Given the description of an element on the screen output the (x, y) to click on. 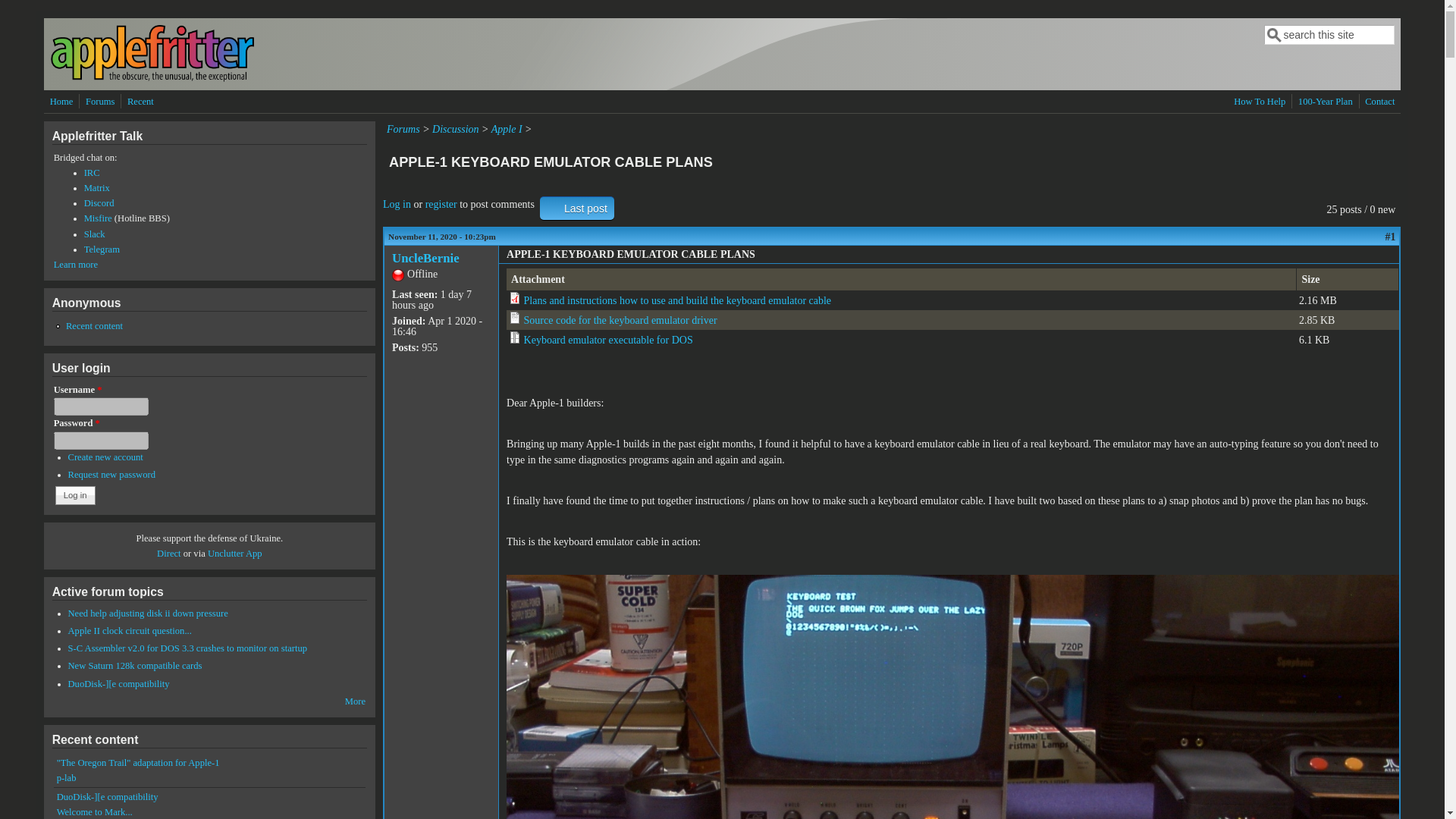
A1KB.txt (620, 319)
Home (61, 101)
A1KB.zip (608, 339)
A1KeybEmu.pdf (677, 300)
Recent (140, 101)
Log in (396, 204)
Apple I (507, 129)
Discussion (455, 129)
How To Help (1259, 101)
Source code for the keyboard emulator driver (620, 319)
UncleBernie (425, 257)
Contact (1379, 101)
Home (151, 79)
Log in (75, 495)
